Given the description of an element on the screen output the (x, y) to click on. 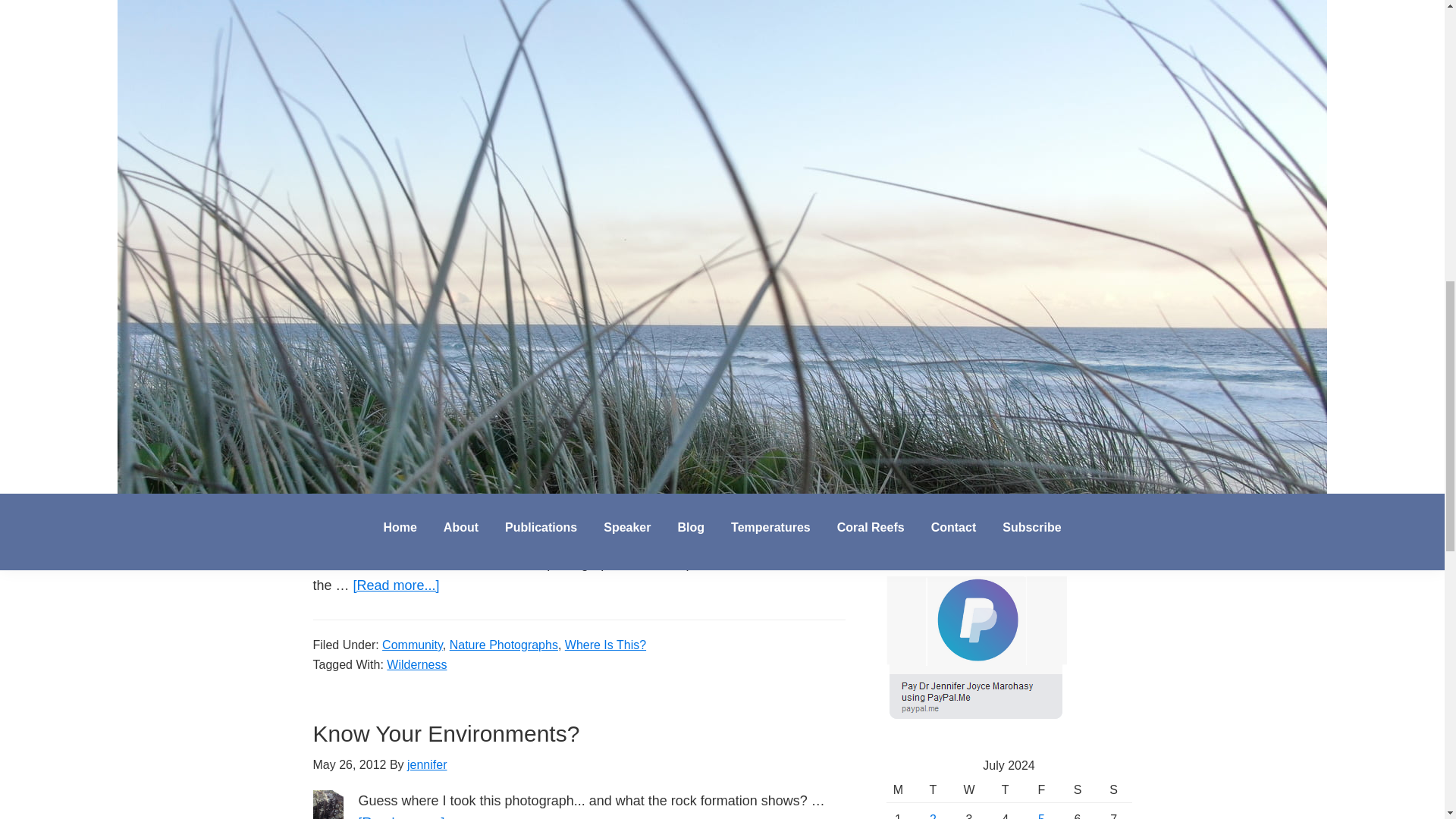
Sunday (1114, 790)
Wilderness (465, 100)
Wednesday (968, 790)
Freedom of Speech News (891, 406)
jennifer (429, 200)
Thursday (1005, 790)
Temperature Trends (891, 361)
Information (452, 80)
Subscribe (937, 475)
Great Barrier Reef News (891, 384)
Monday (899, 790)
Monthly Summary (891, 428)
Opinion (510, 80)
Books (397, 80)
Hunting (407, 100)
